Given the description of an element on the screen output the (x, y) to click on. 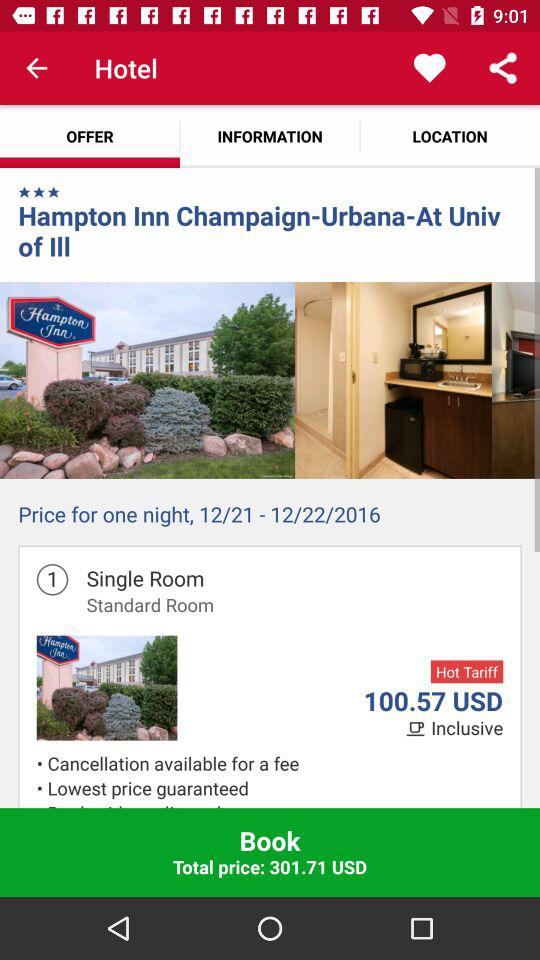
launch the icon above the price for one item (393, 379)
